Given the description of an element on the screen output the (x, y) to click on. 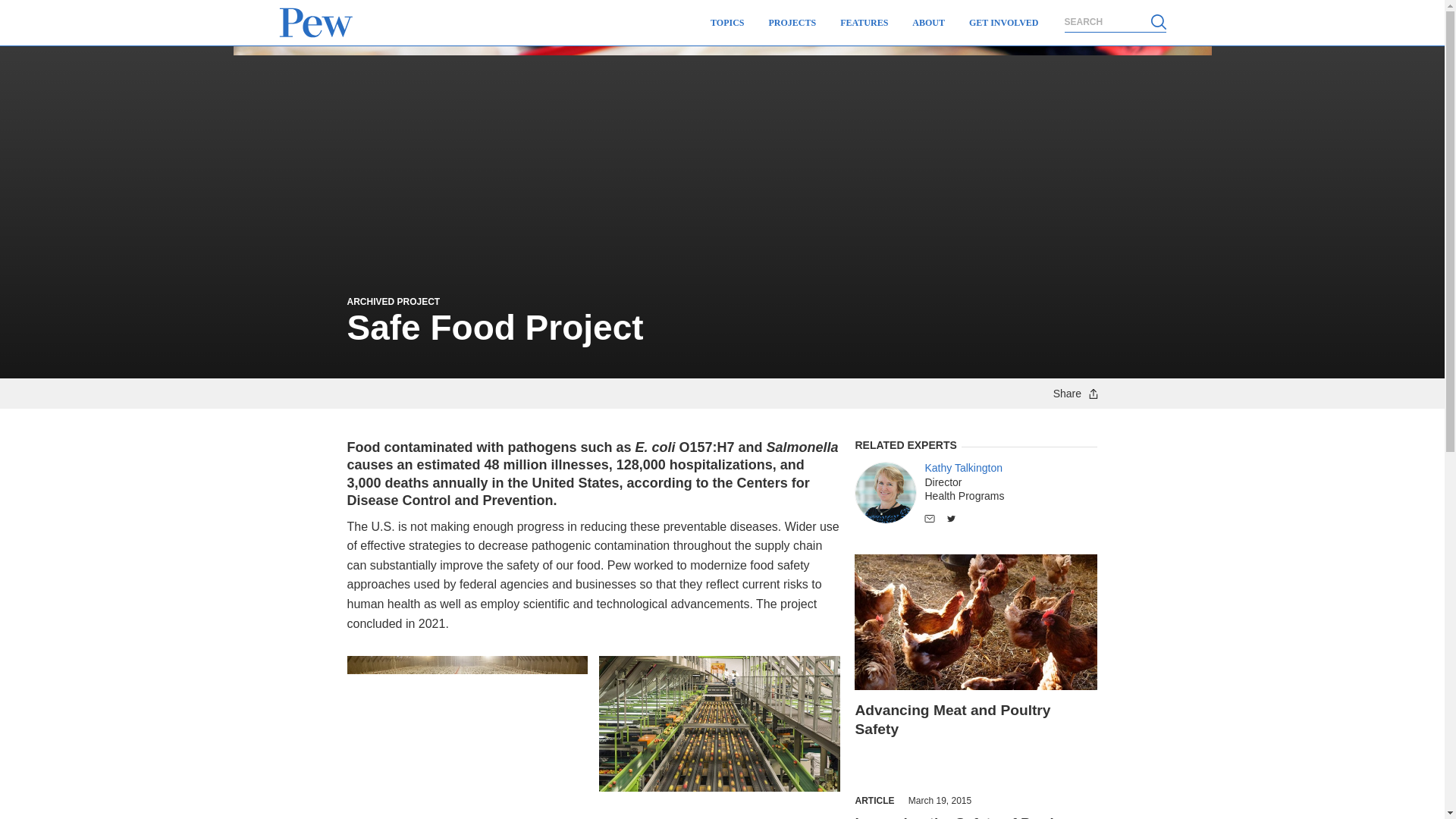
TOPICS (726, 22)
Hens (975, 621)
Chicken farm (467, 723)
Apple factory, sorting machine (719, 723)
PROJECTS (792, 22)
